Given the description of an element on the screen output the (x, y) to click on. 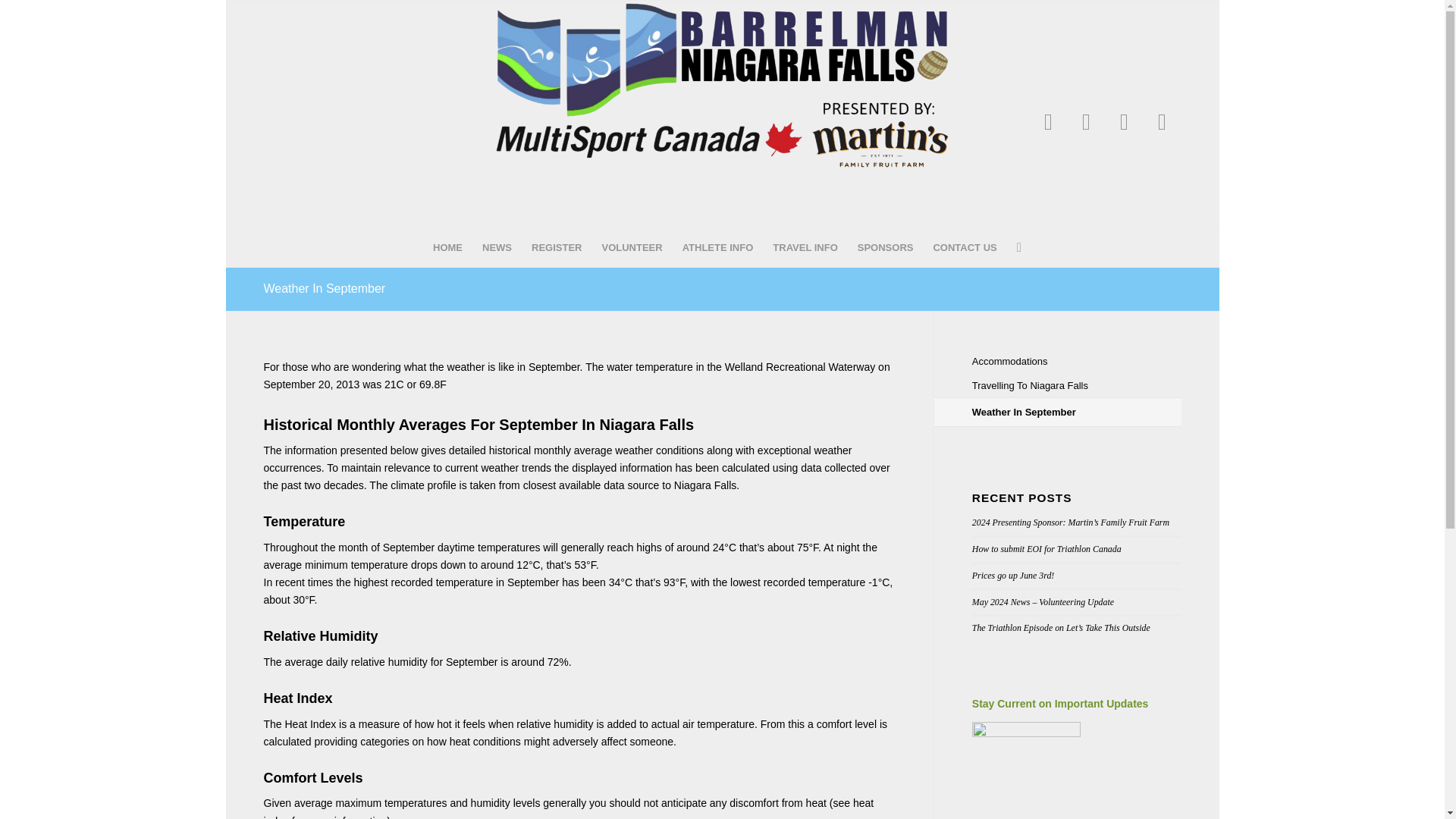
NEWS (496, 247)
VOLUNTEER (631, 247)
Permanent Link: Weather In September (324, 287)
Weather In September (324, 287)
TRAVEL INFO (804, 247)
SPONSORS (885, 247)
REGISTER (556, 247)
ATHLETE INFO (717, 247)
HOME (447, 247)
